Given the description of an element on the screen output the (x, y) to click on. 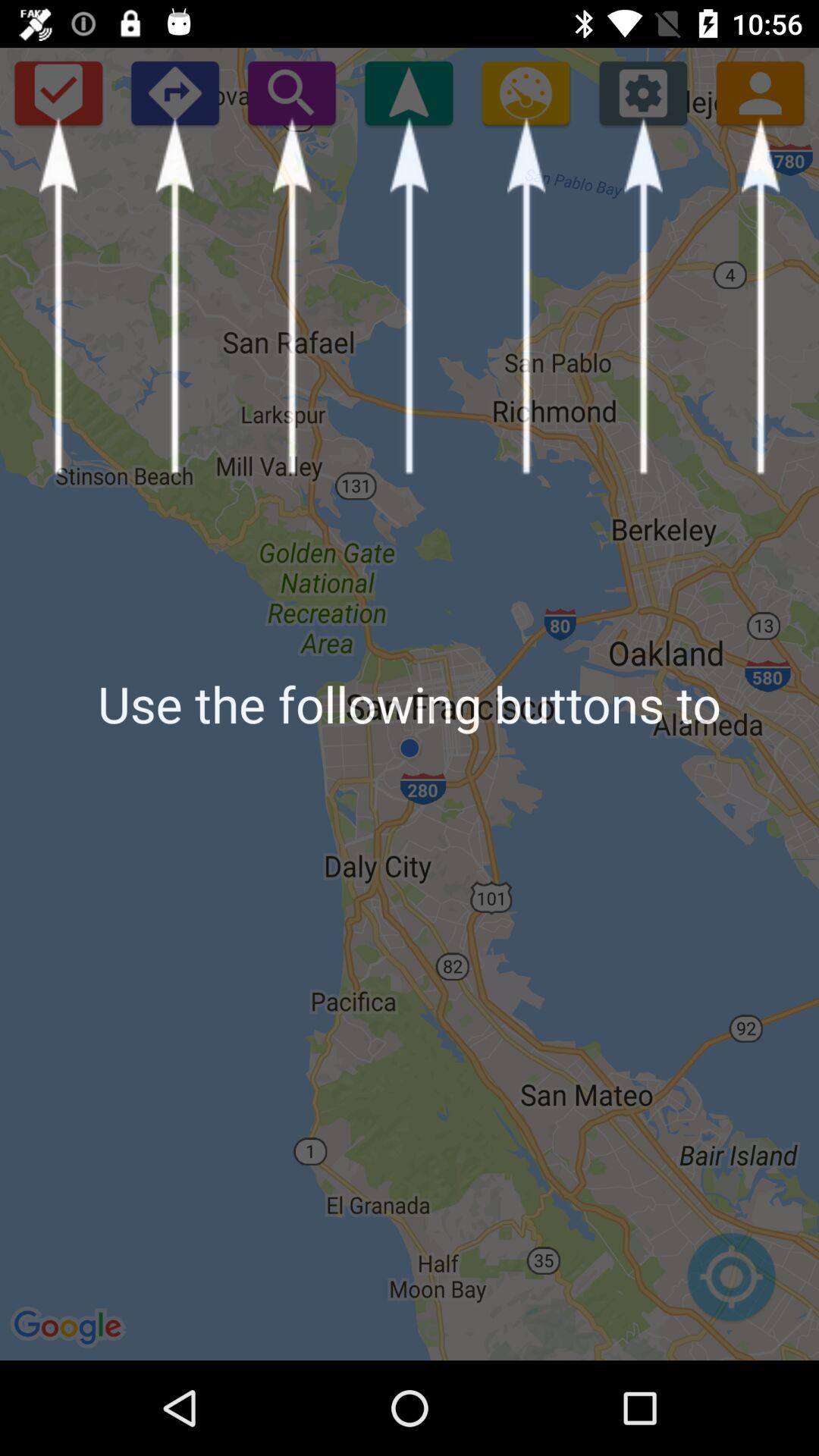
turn off icon at the bottom right corner (731, 1284)
